Given the description of an element on the screen output the (x, y) to click on. 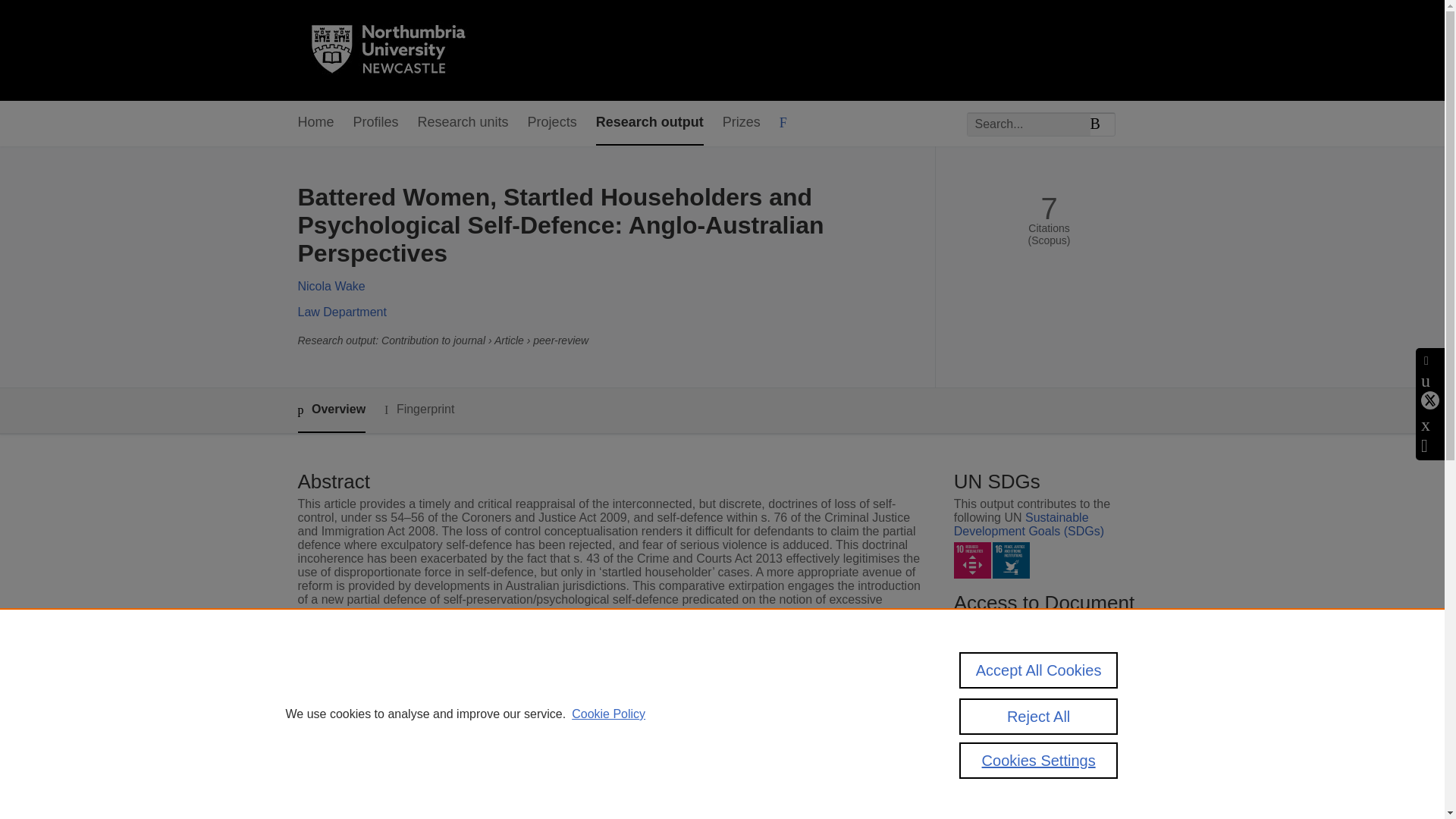
Projects (551, 122)
SDG 10 - Reduced Inequalities (972, 560)
Fingerprint (419, 409)
SDG 16 - Peace, Justice and Strong Institutions (1010, 560)
The Journal of Criminal Law (584, 713)
Research units (462, 122)
Overview (331, 410)
Nicola Wake (331, 286)
Law Department (341, 311)
